Given the description of an element on the screen output the (x, y) to click on. 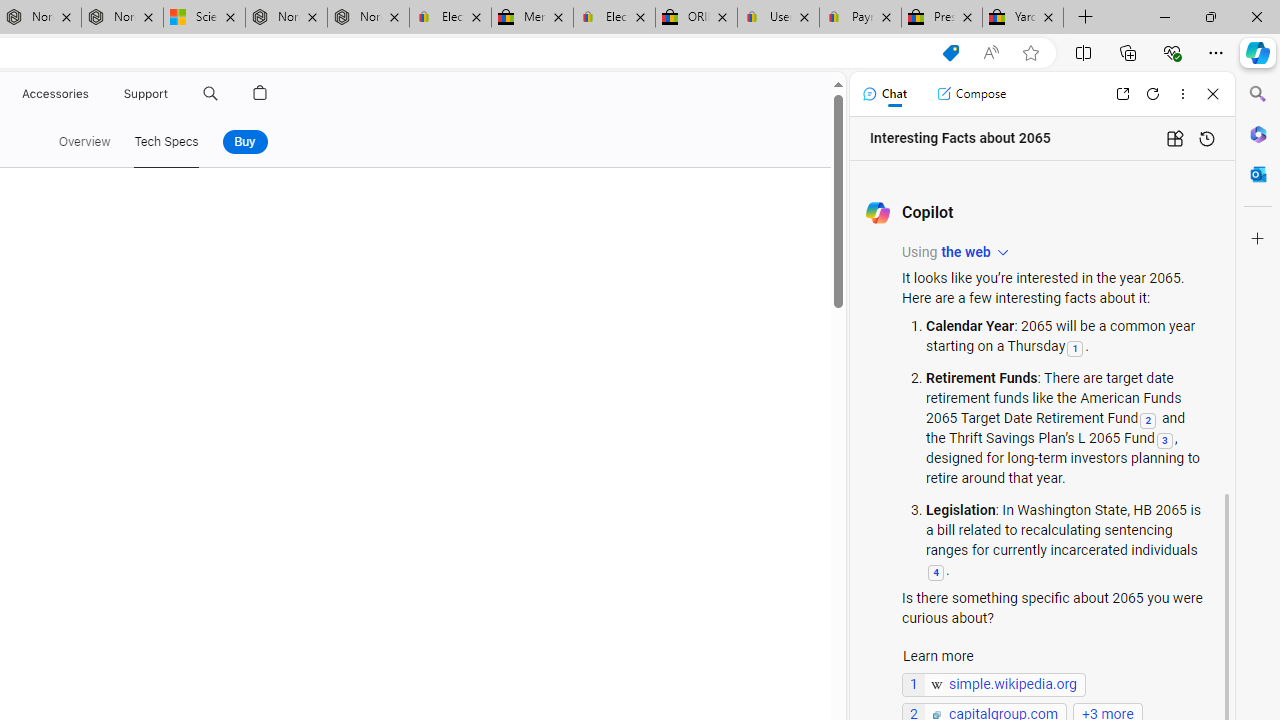
Accessories (54, 93)
Overview (84, 141)
Accessories menu (91, 93)
Buy HomePod mini (244, 142)
Overview (84, 141)
Accessories (54, 93)
